Given the description of an element on the screen output the (x, y) to click on. 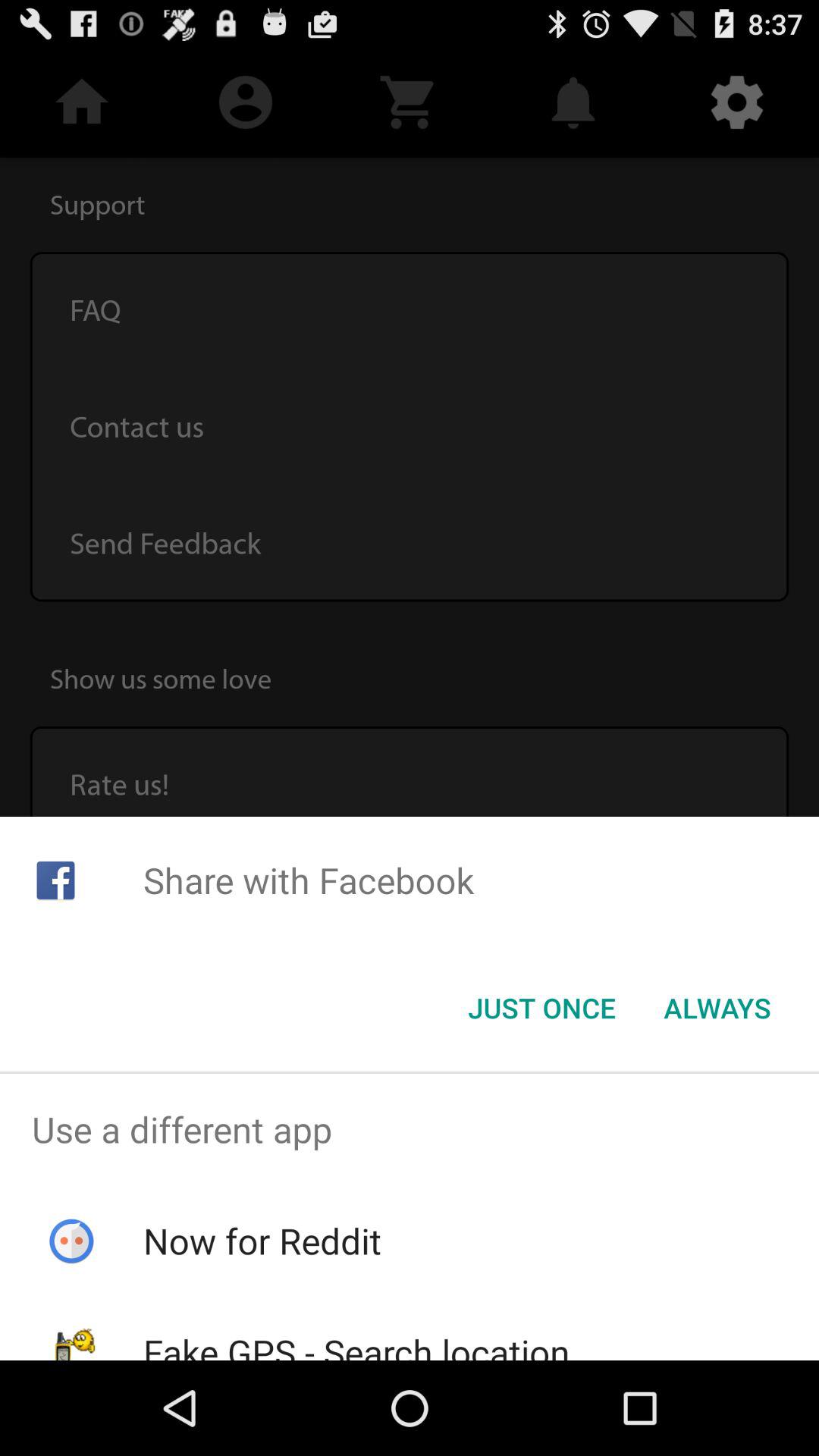
press item below share with facebook item (717, 1007)
